Given the description of an element on the screen output the (x, y) to click on. 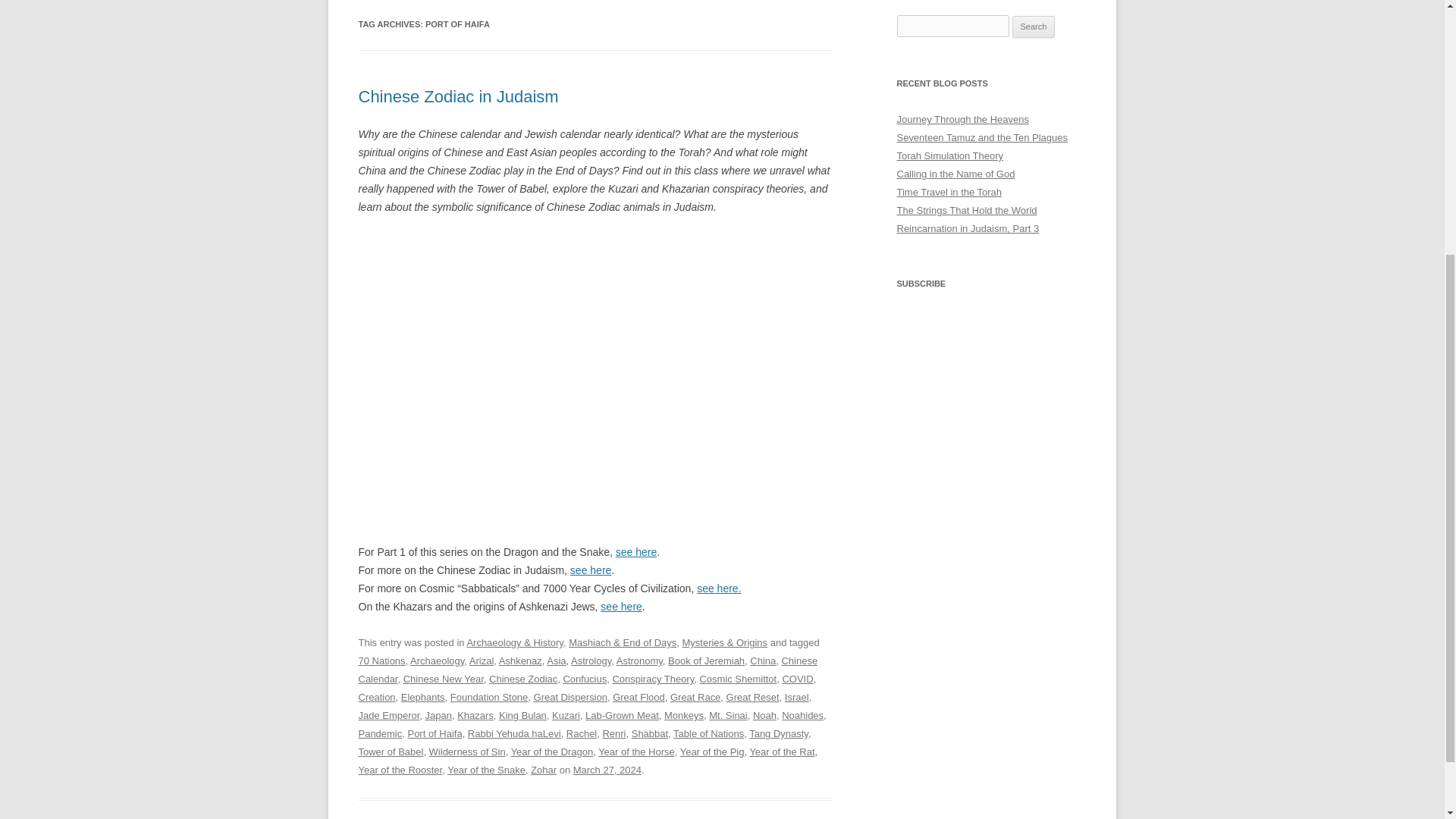
Chinese Zodiac (523, 678)
Chinese Zodiac in Judaism (457, 96)
Asia (556, 660)
China (762, 660)
see here (620, 606)
Chinese Zodiac in Judaism (594, 367)
Astrology (590, 660)
see here (590, 570)
Conspiracy Theory (652, 678)
70 Nations (381, 660)
Astronomy (638, 660)
Great Dispersion (570, 696)
Arizal (480, 660)
Elephants (423, 696)
Book of Jeremiah (706, 660)
